Given the description of an element on the screen output the (x, y) to click on. 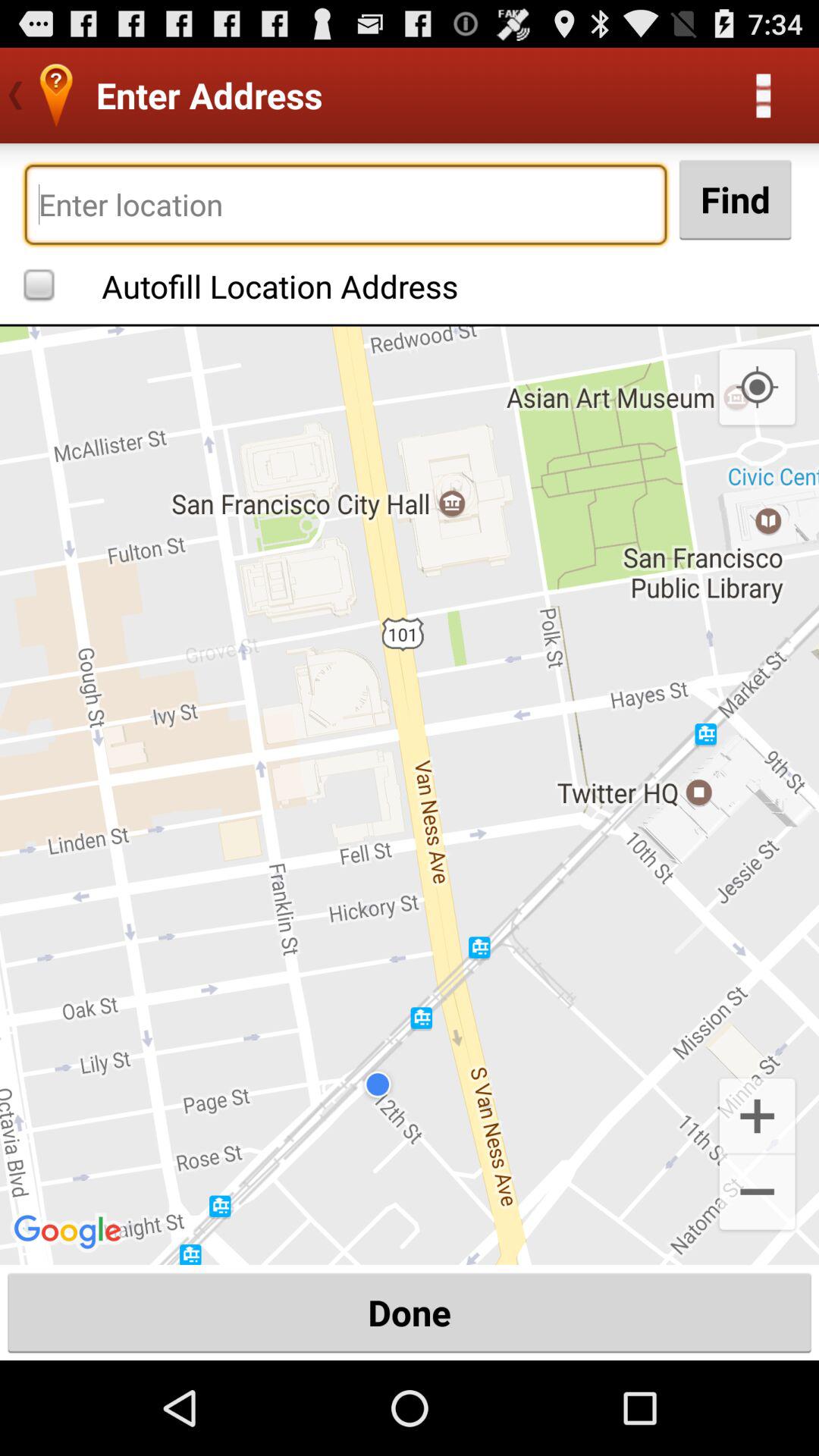
scroll to the done (409, 1312)
